Given the description of an element on the screen output the (x, y) to click on. 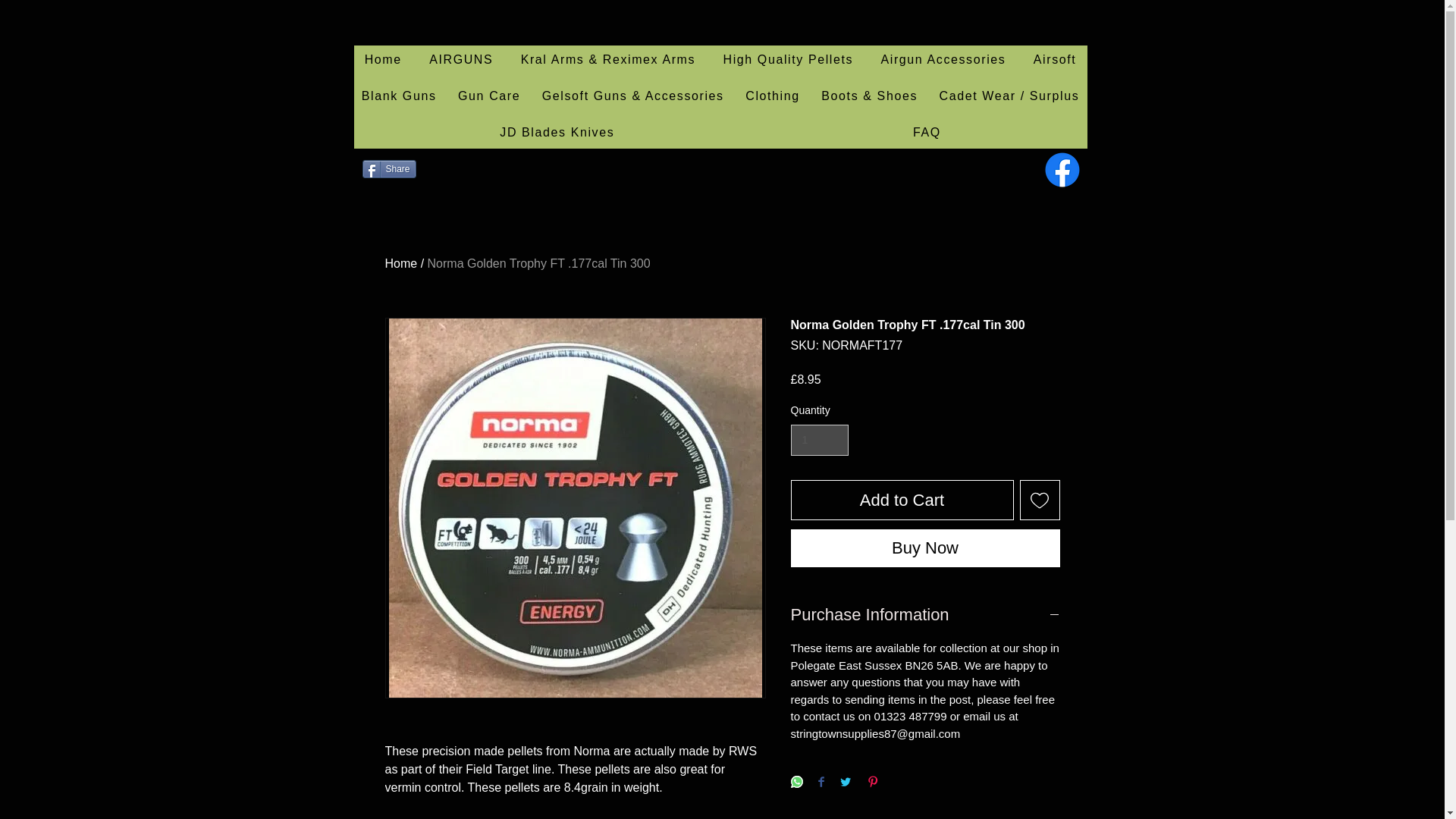
1 (818, 440)
Add to Cart (901, 499)
Home (401, 263)
JD Blades Knives (556, 132)
Airsoft (1055, 60)
Buy Now (924, 548)
Purchase Information (924, 615)
AIRGUNS (461, 60)
Share (389, 168)
Share (389, 168)
Airgun Accessories (942, 60)
High Quality Pellets (787, 60)
Norma Golden Trophy FT .177cal Tin 300 (539, 263)
Clothing (773, 96)
Gun Care (488, 96)
